Given the description of an element on the screen output the (x, y) to click on. 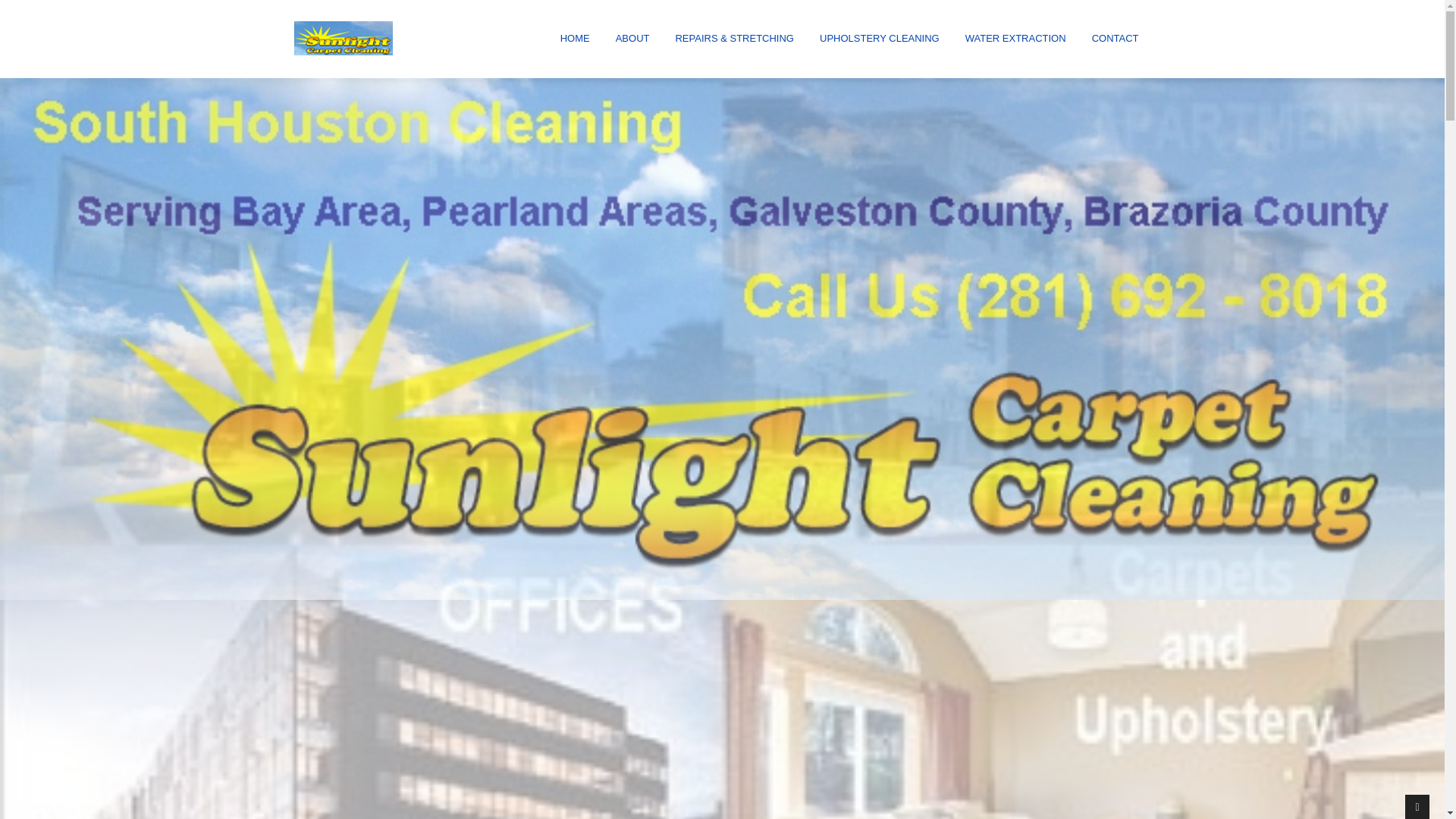
HOME (575, 38)
CONTACT (1115, 38)
UPHOLSTERY CLEANING (880, 38)
WATER EXTRACTION (1015, 38)
ABOUT (633, 38)
